Given the description of an element on the screen output the (x, y) to click on. 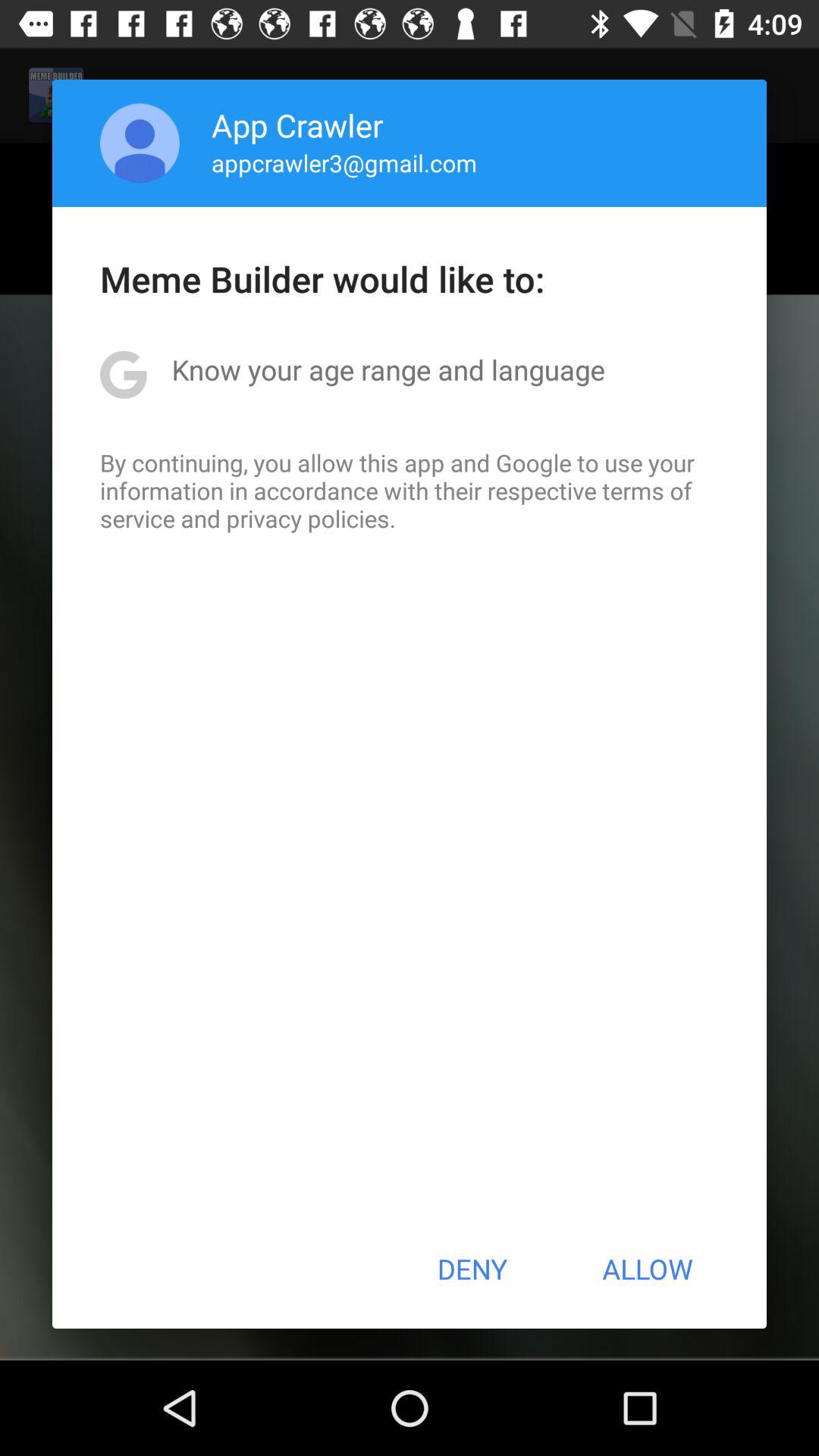
click appcrawler3@gmail.com icon (344, 162)
